Given the description of an element on the screen output the (x, y) to click on. 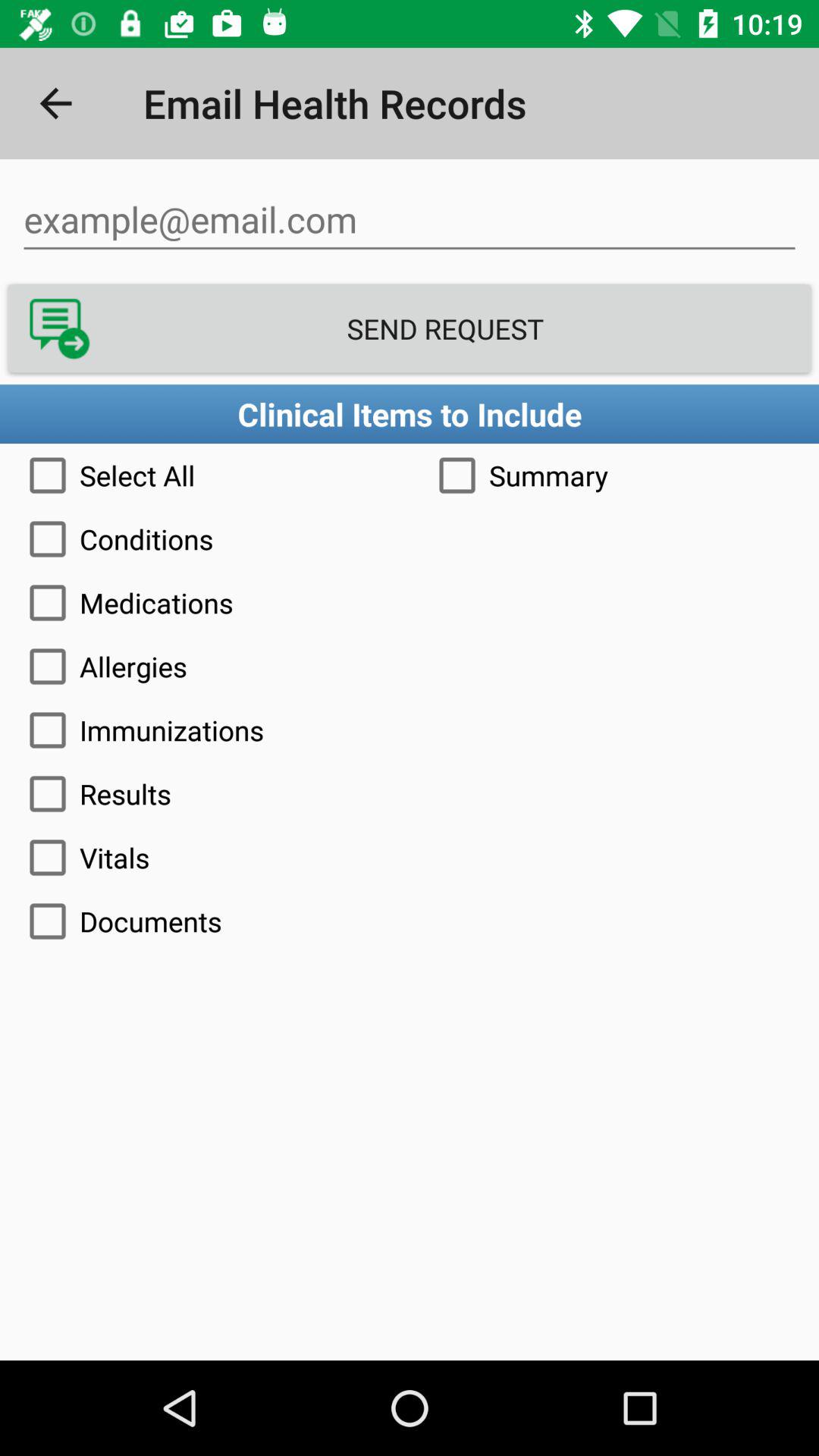
choose the item above clinical items to (409, 328)
